Given the description of an element on the screen output the (x, y) to click on. 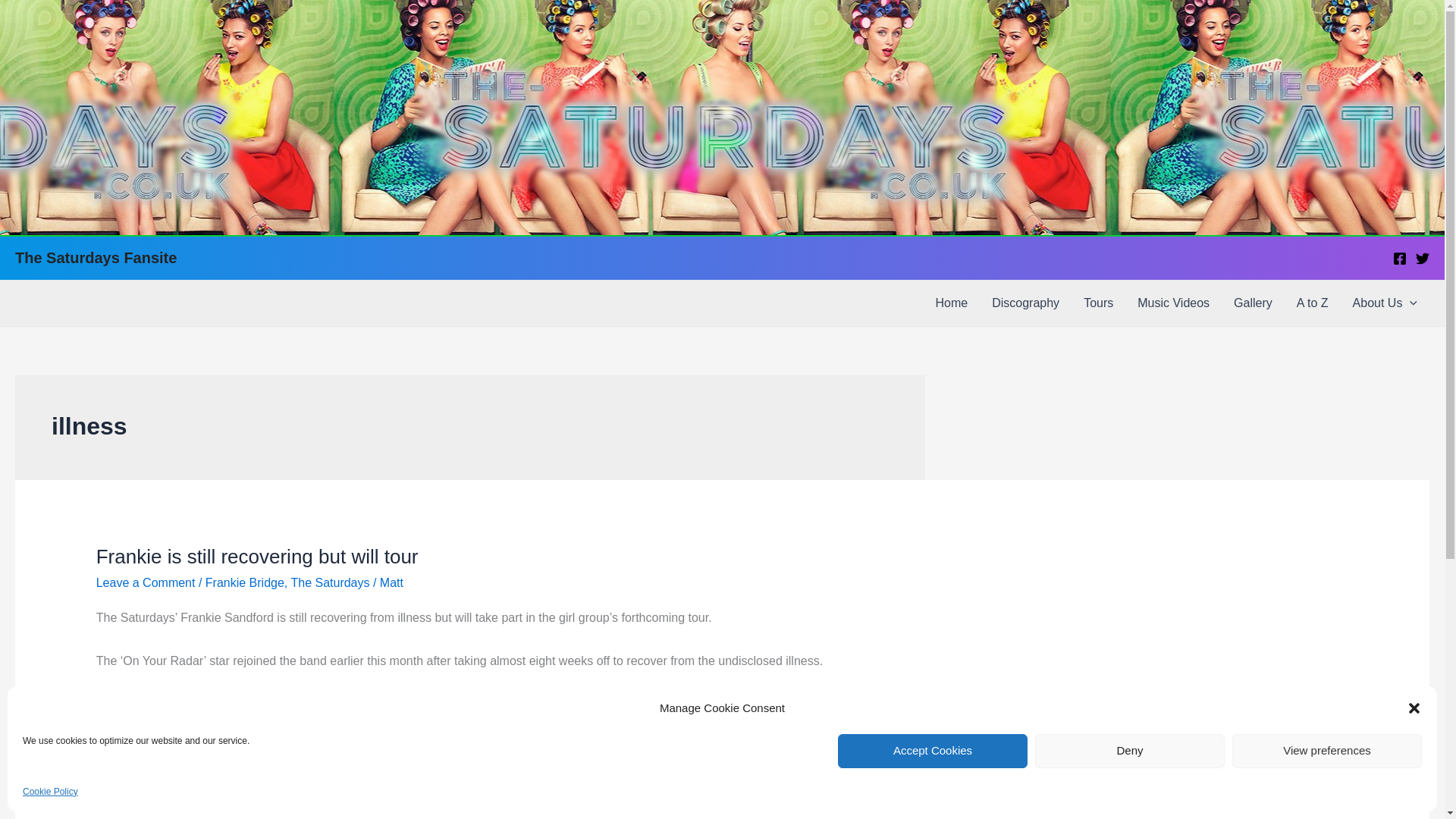
A to Z (1312, 302)
The Saturdays Fansite (95, 257)
Cookie Policy (50, 791)
Discography (1025, 302)
About Us (1384, 302)
Accept Cookies (932, 750)
Tours (1098, 302)
Deny (1129, 750)
View preferences (1326, 750)
Home (951, 302)
Music Videos (1173, 302)
Gallery (1252, 302)
View all posts by Matt (391, 582)
